Given the description of an element on the screen output the (x, y) to click on. 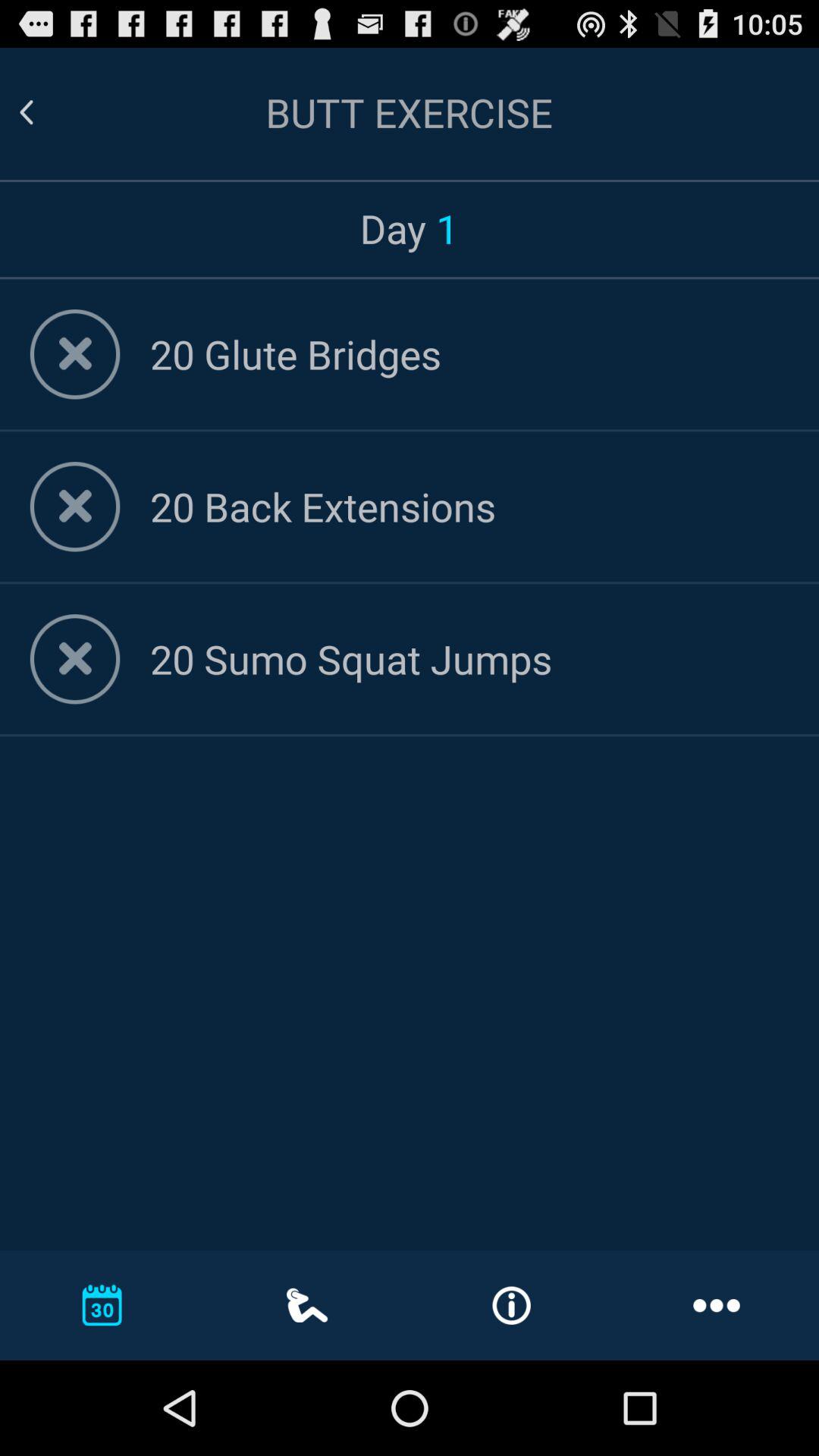
select the 20 back extensions app (469, 506)
